Given the description of an element on the screen output the (x, y) to click on. 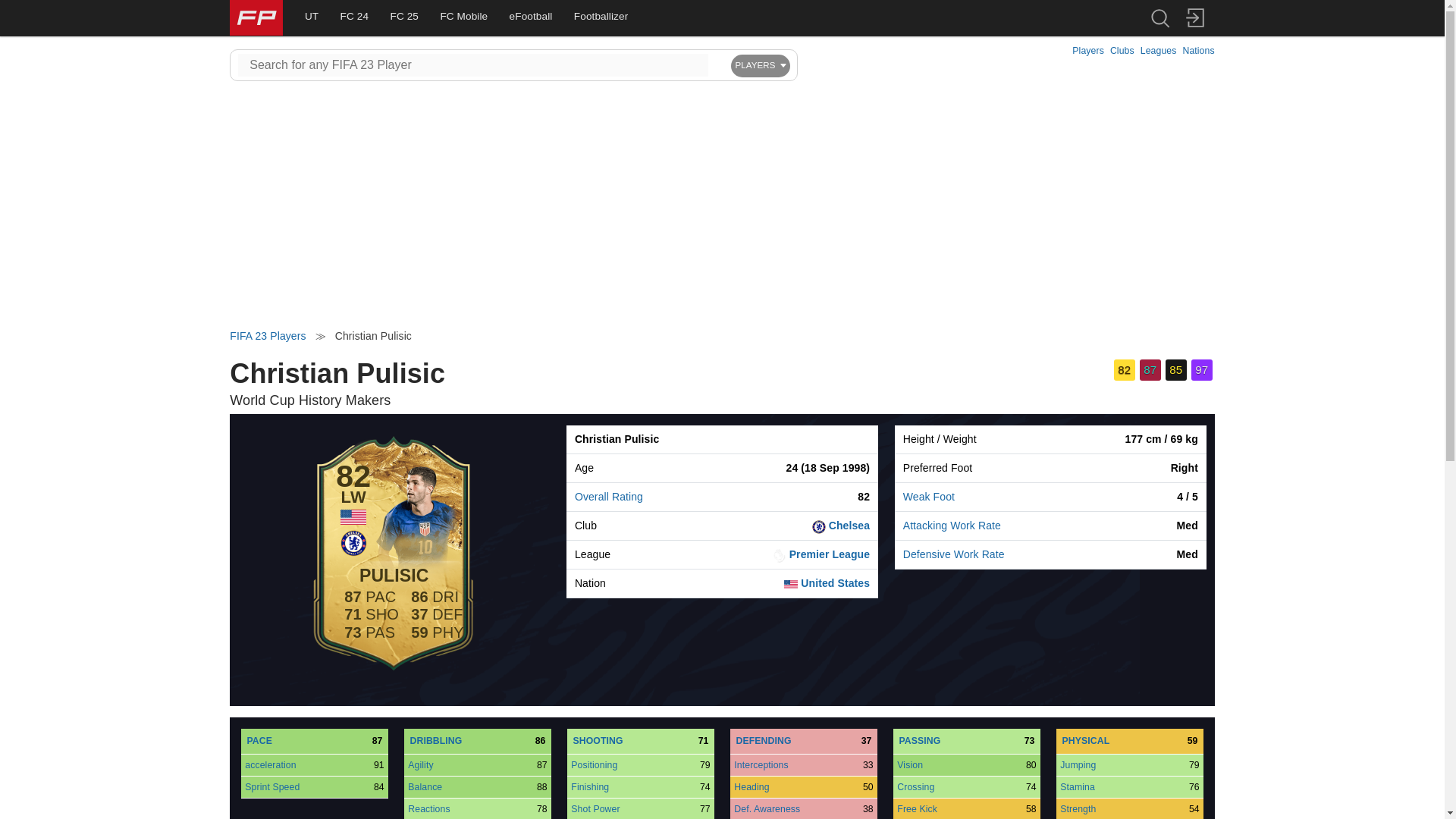
FC 24 (354, 17)
FIFPlay (256, 18)
FC 25 (403, 17)
UT (311, 17)
